Given the description of an element on the screen output the (x, y) to click on. 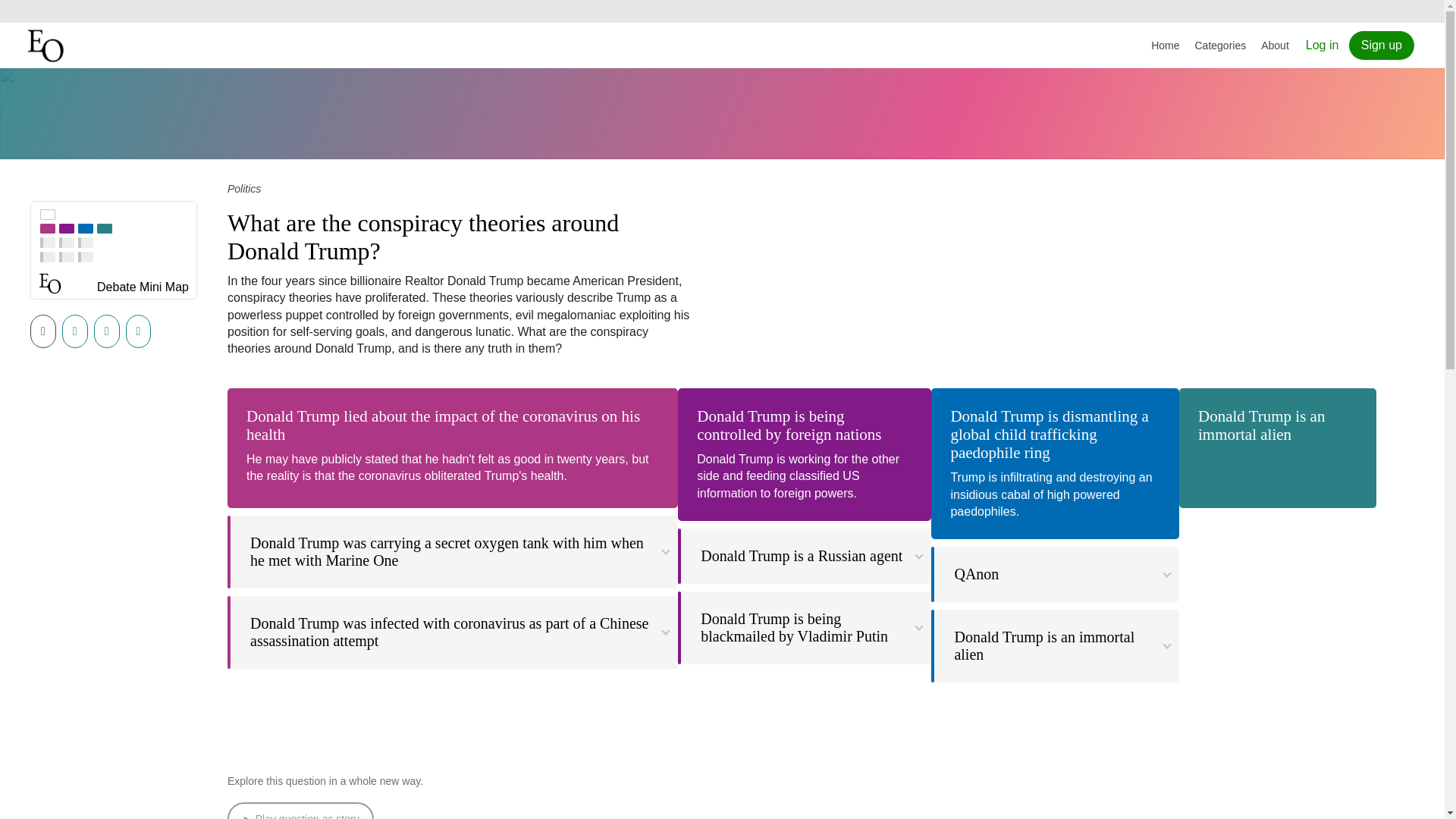
Politics (243, 188)
Log In (1322, 44)
Log in (1322, 44)
Go to homepage (47, 45)
What are the conspiracy theories around Donald Trump? (422, 236)
About (1275, 44)
Sign up (1381, 45)
Home (1164, 44)
Politics Link (243, 188)
Categories (1220, 44)
